Given the description of an element on the screen output the (x, y) to click on. 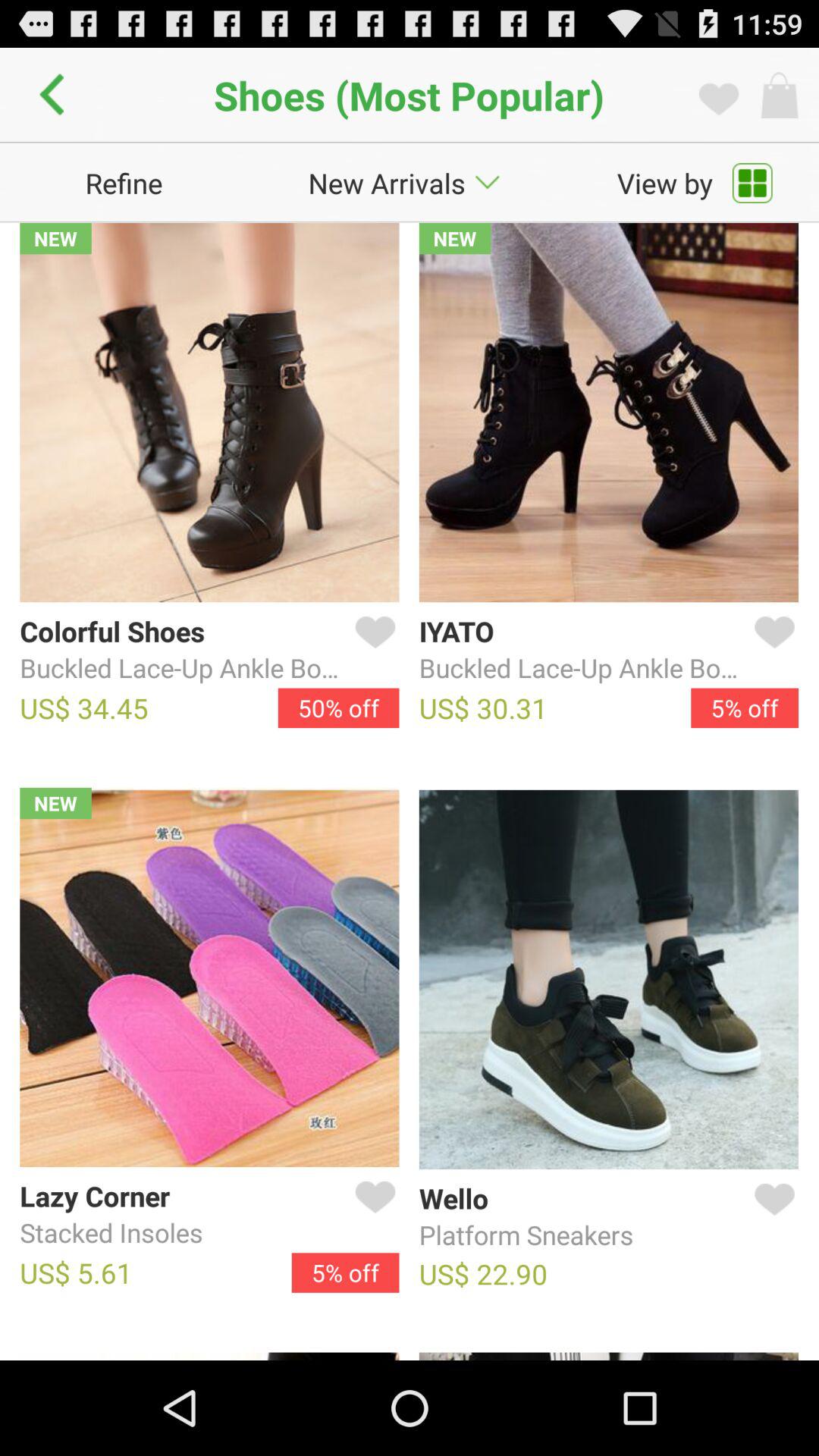
go to previous (56, 94)
